Given the description of an element on the screen output the (x, y) to click on. 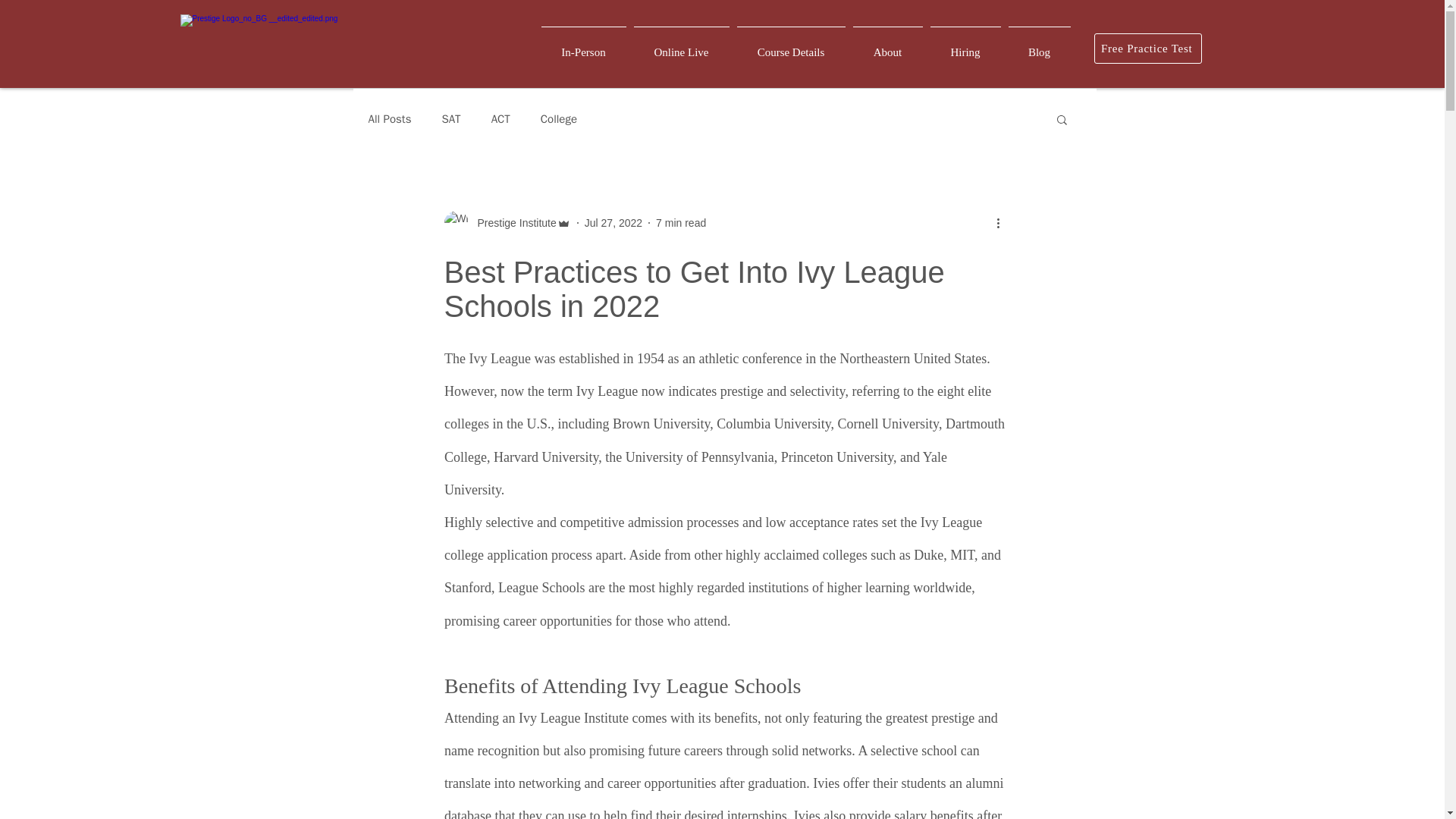
In-Person (582, 45)
Online Live (680, 45)
Prestige Institute (507, 222)
SAT (450, 119)
Blog (1039, 45)
Prestige Institute (512, 222)
7 min read (681, 223)
All Posts (390, 119)
ACT (501, 119)
Free Practice Test (1147, 48)
